Given the description of an element on the screen output the (x, y) to click on. 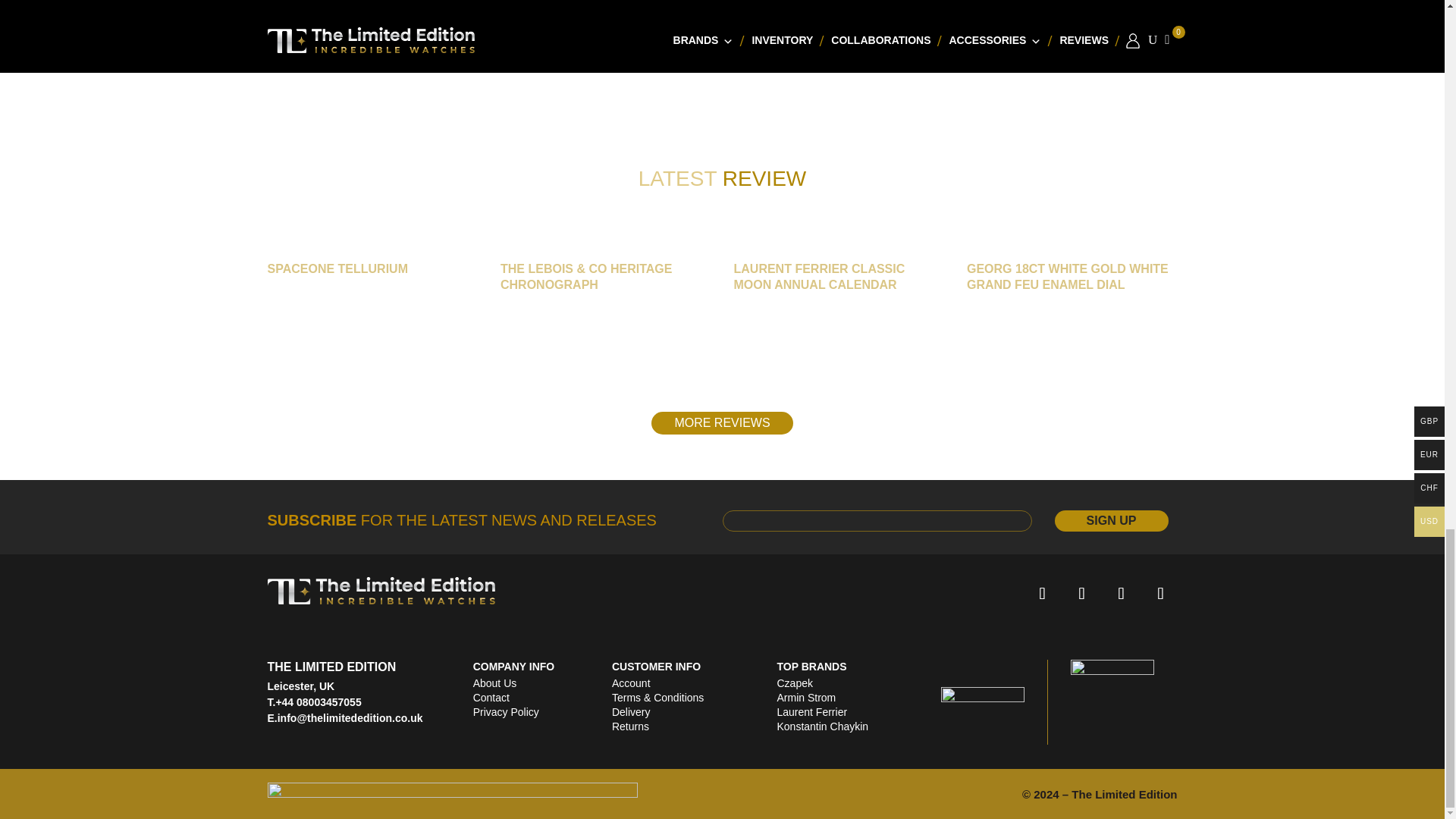
site-main-logo (380, 589)
footer-col-logo-2-1 (982, 702)
Follow on Instagram (1120, 592)
Follow on Youtube (1159, 592)
Follow on Spotify (1080, 592)
Follow on Facebook (1041, 592)
